Given the description of an element on the screen output the (x, y) to click on. 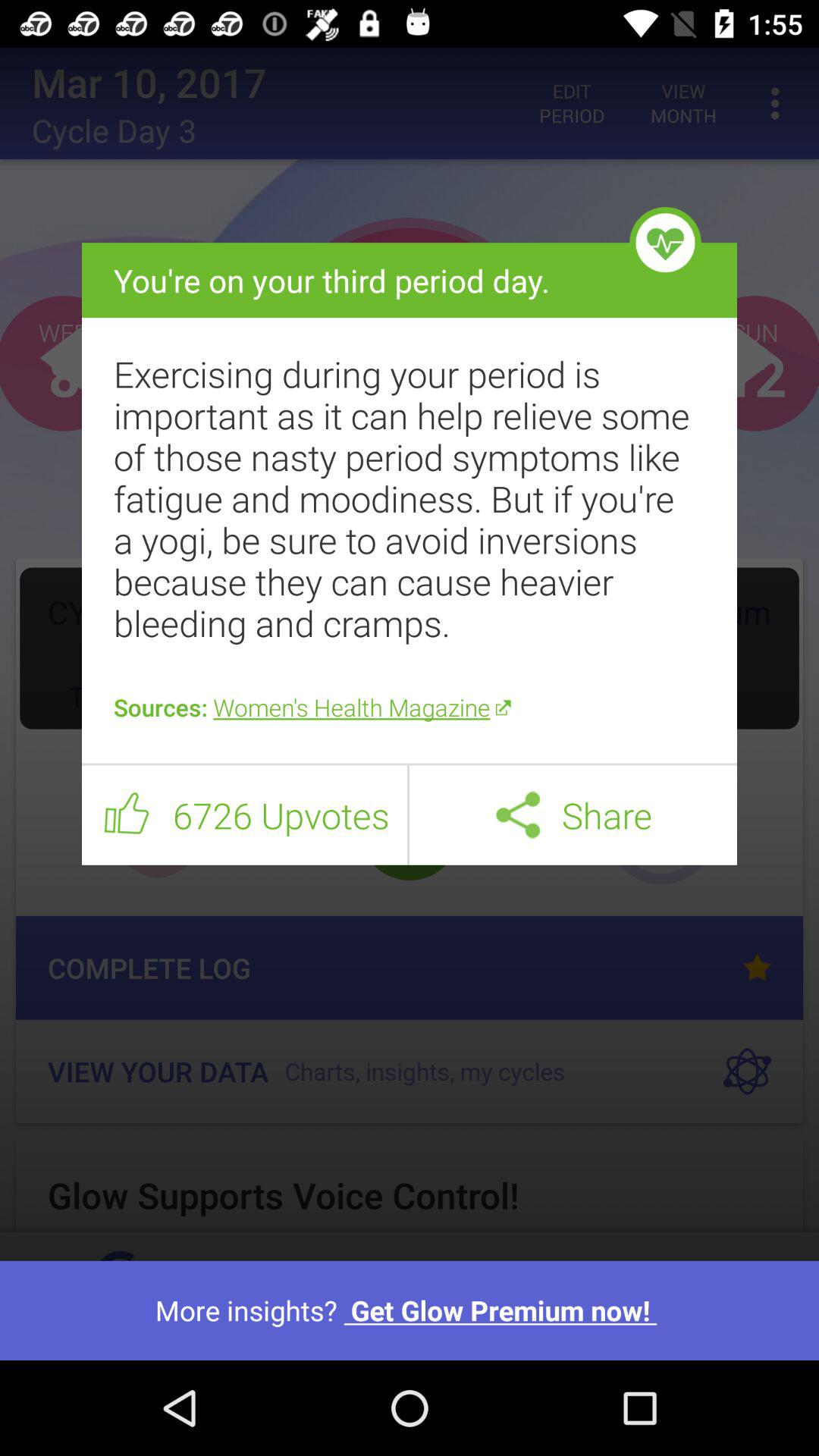
turn off item next to 6726 upvotes icon (408, 815)
